Given the description of an element on the screen output the (x, y) to click on. 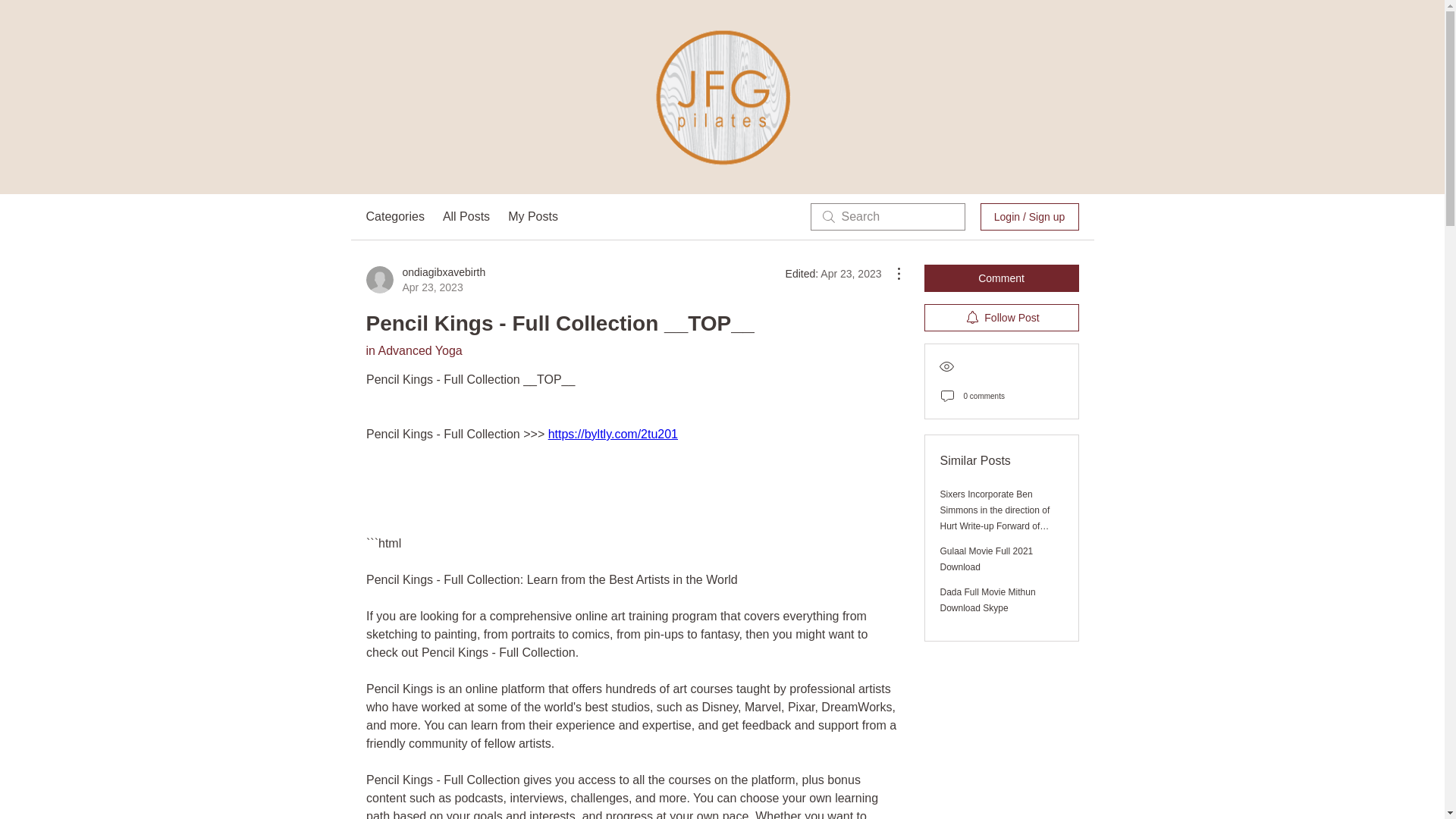
in Advanced Yoga (413, 350)
Categories (394, 217)
Follow Post (1000, 317)
All Posts (465, 217)
Dada Full Movie Mithun Download Skype (987, 600)
Gulaal Movie Full 2021 Download (986, 559)
Comment (1000, 277)
My Posts (532, 217)
